Given the description of an element on the screen output the (x, y) to click on. 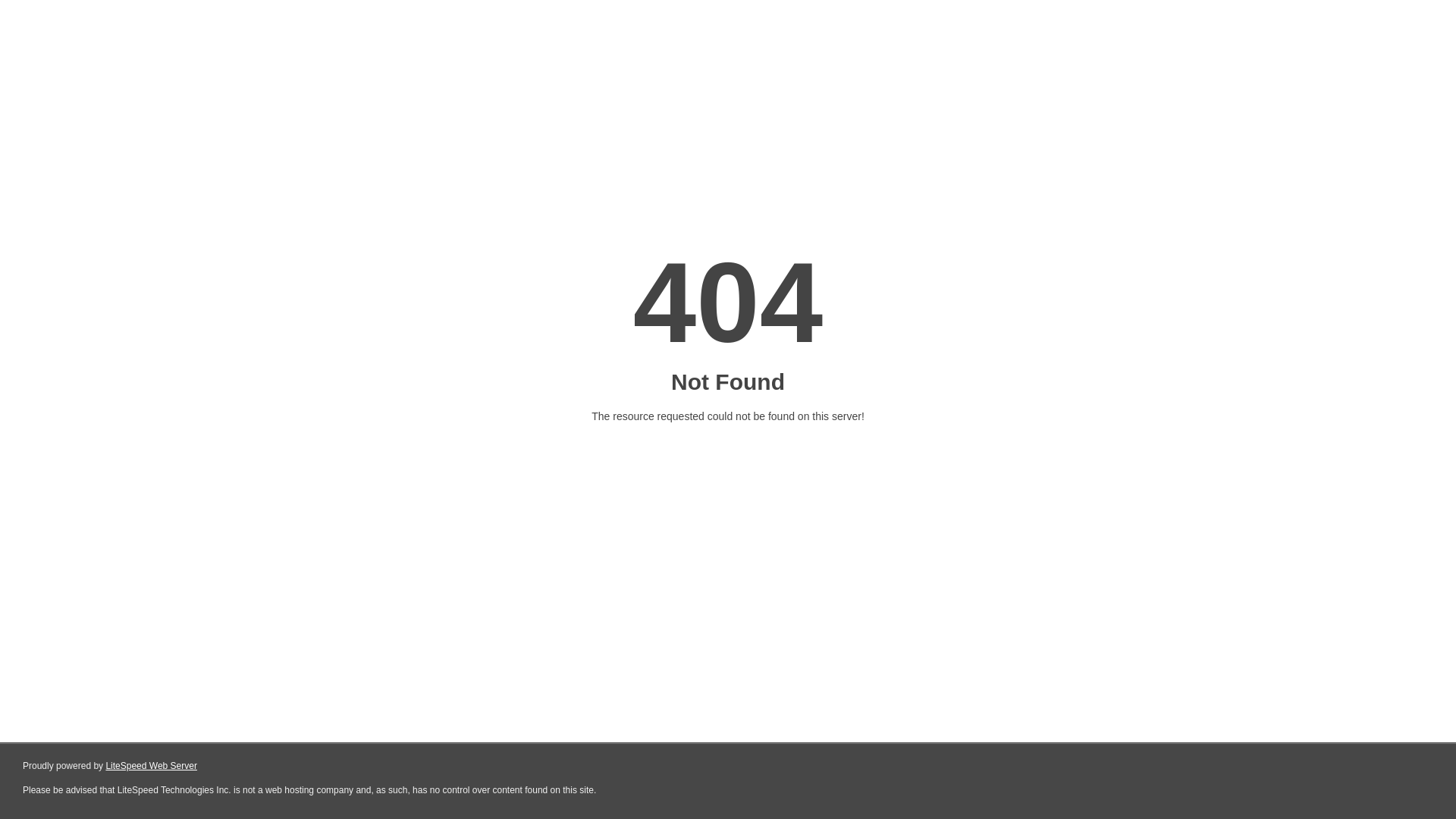
LiteSpeed Web Server Element type: text (151, 765)
